Given the description of an element on the screen output the (x, y) to click on. 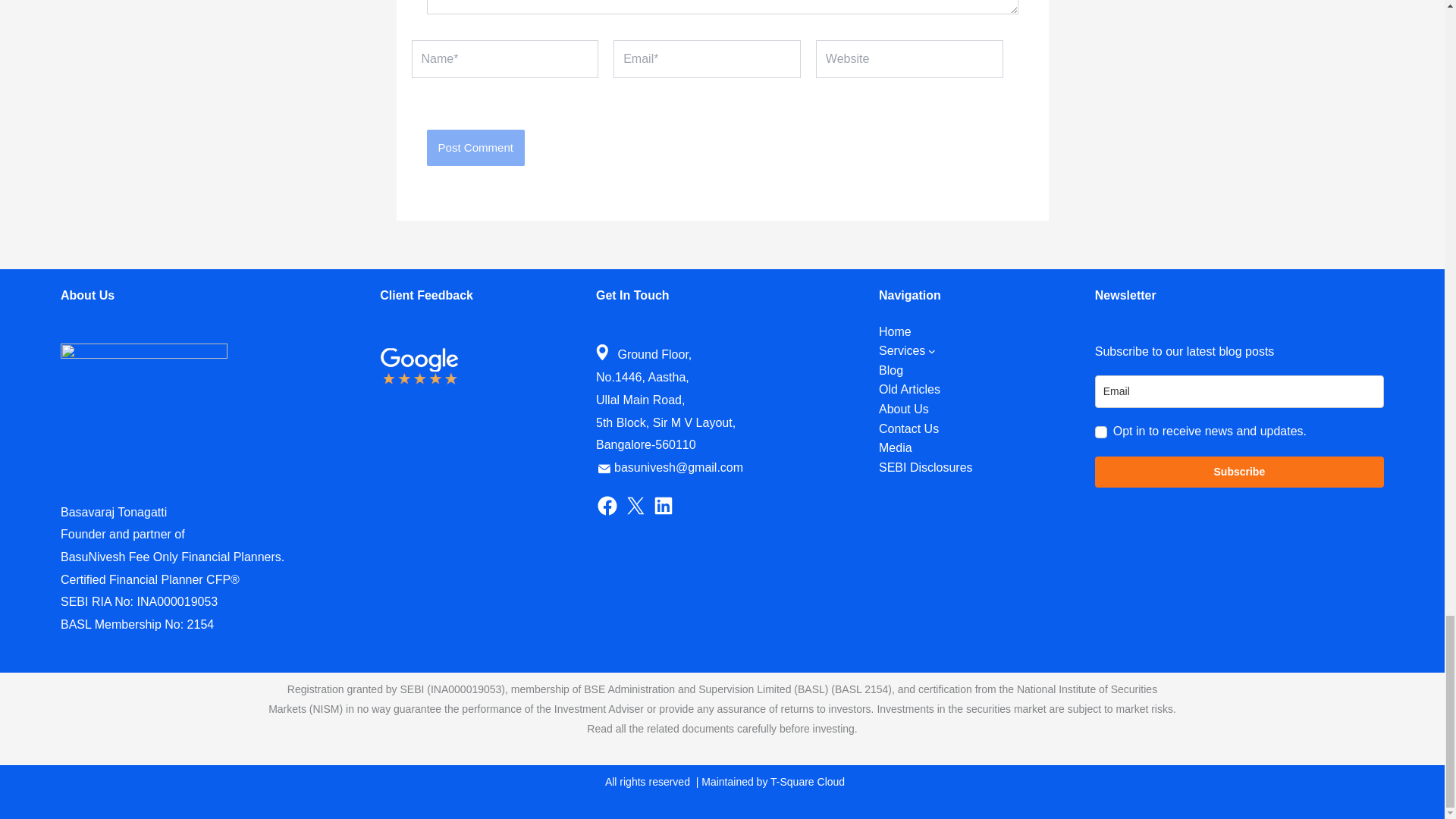
Post Comment (475, 147)
